Given the description of an element on the screen output the (x, y) to click on. 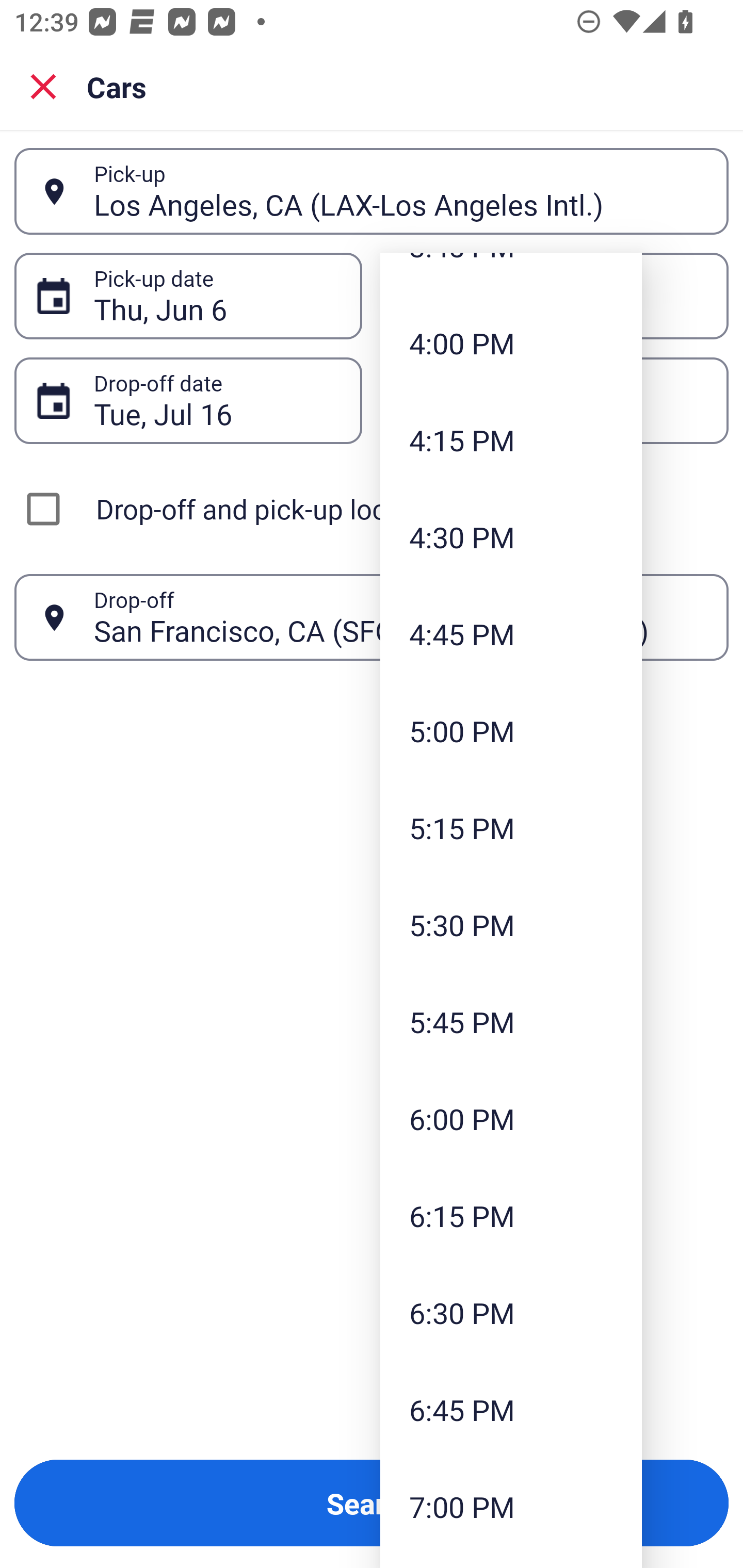
4:00 PM (510, 343)
4:15 PM (510, 440)
4:30 PM (510, 536)
4:45 PM (510, 633)
5:00 PM (510, 730)
5:15 PM (510, 827)
5:30 PM (510, 924)
5:45 PM (510, 1021)
6:00 PM (510, 1118)
6:15 PM (510, 1214)
6:30 PM (510, 1312)
6:45 PM (510, 1409)
7:00 PM (510, 1506)
